Given the description of an element on the screen output the (x, y) to click on. 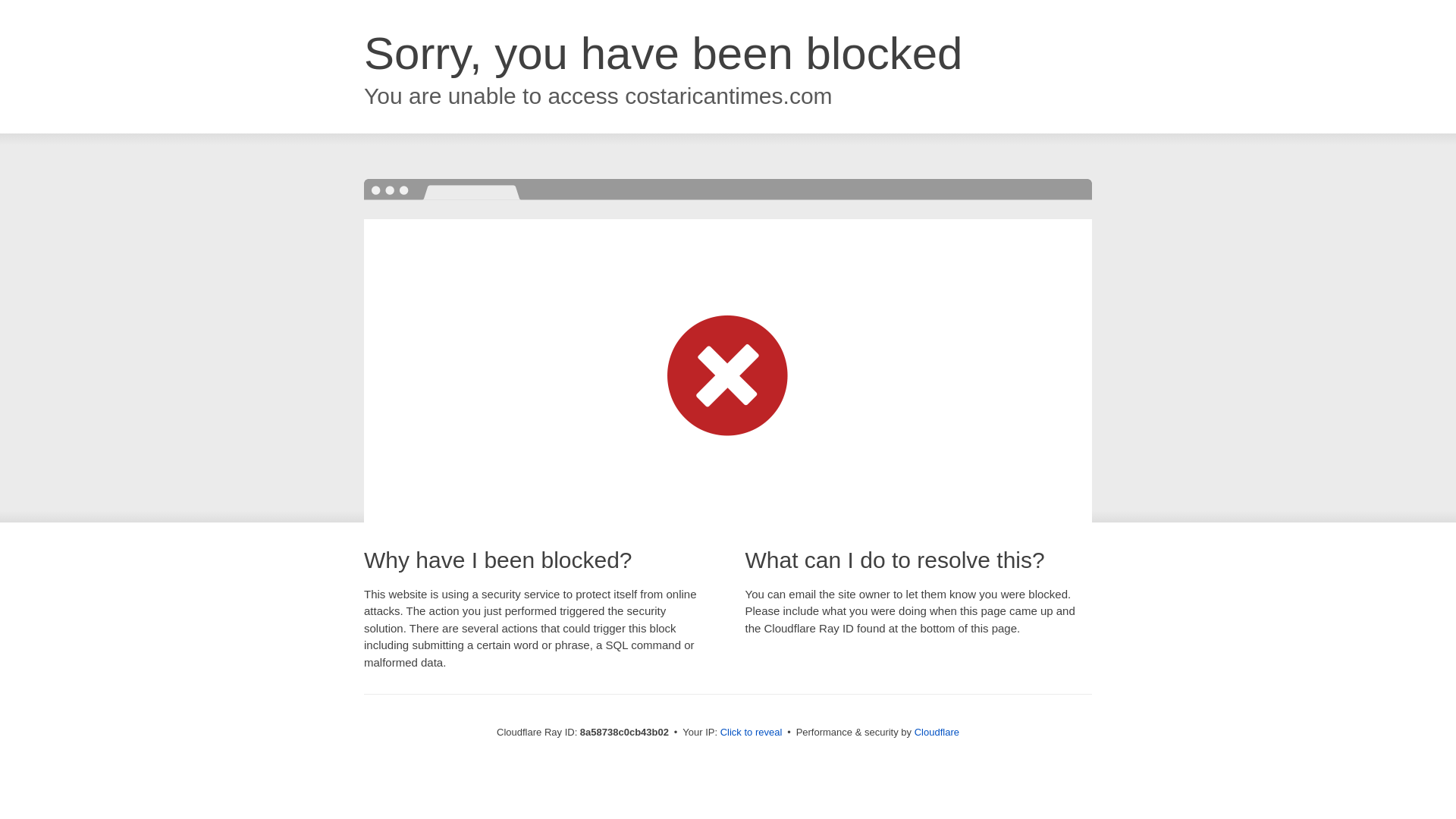
Click to reveal (751, 732)
Cloudflare (936, 731)
